Given the description of an element on the screen output the (x, y) to click on. 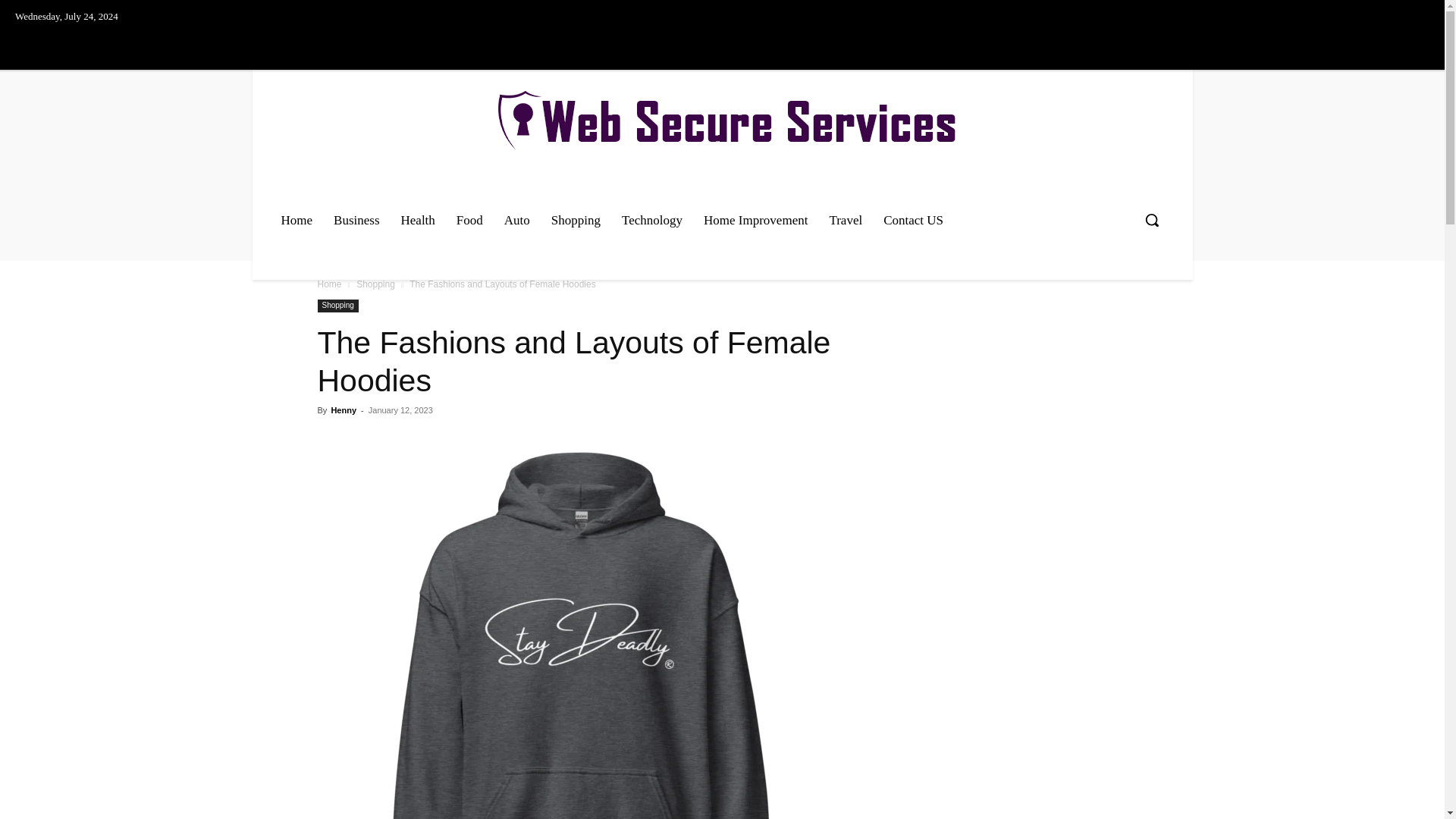
Shopping (575, 220)
Food (469, 220)
Contact US (912, 220)
Henny (343, 409)
Home (328, 284)
Health (417, 220)
Shopping (337, 305)
Travel (845, 220)
Business (356, 220)
Home Improvement (755, 220)
Technology (652, 220)
View all posts in Shopping (375, 284)
Auto (516, 220)
Shopping (375, 284)
